Given the description of an element on the screen output the (x, y) to click on. 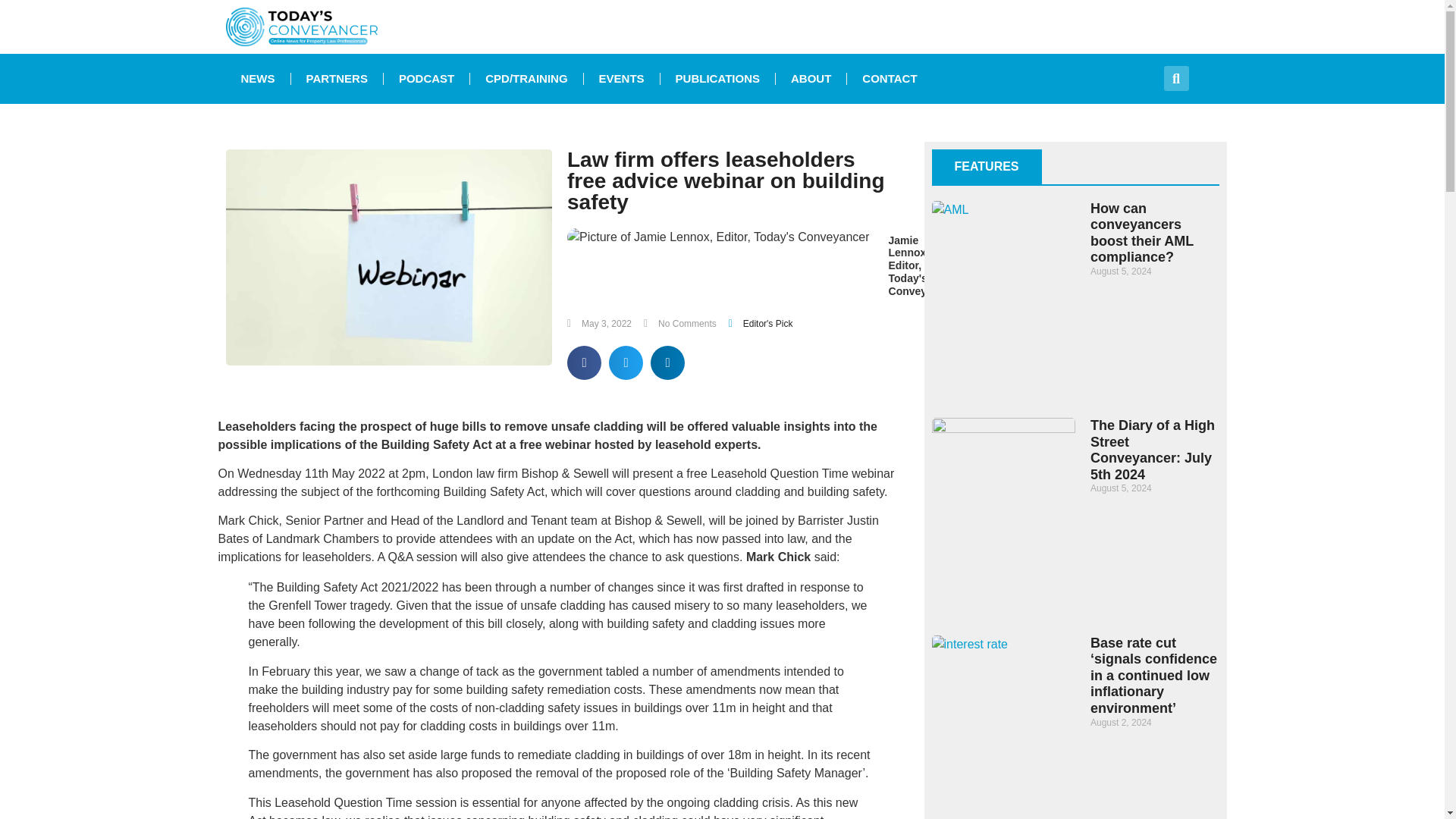
EVENTS (621, 78)
PARTNERS (336, 78)
ABOUT (810, 78)
PUBLICATIONS (717, 78)
NEWS (257, 78)
PODCAST (426, 78)
CONTACT (889, 78)
